Given the description of an element on the screen output the (x, y) to click on. 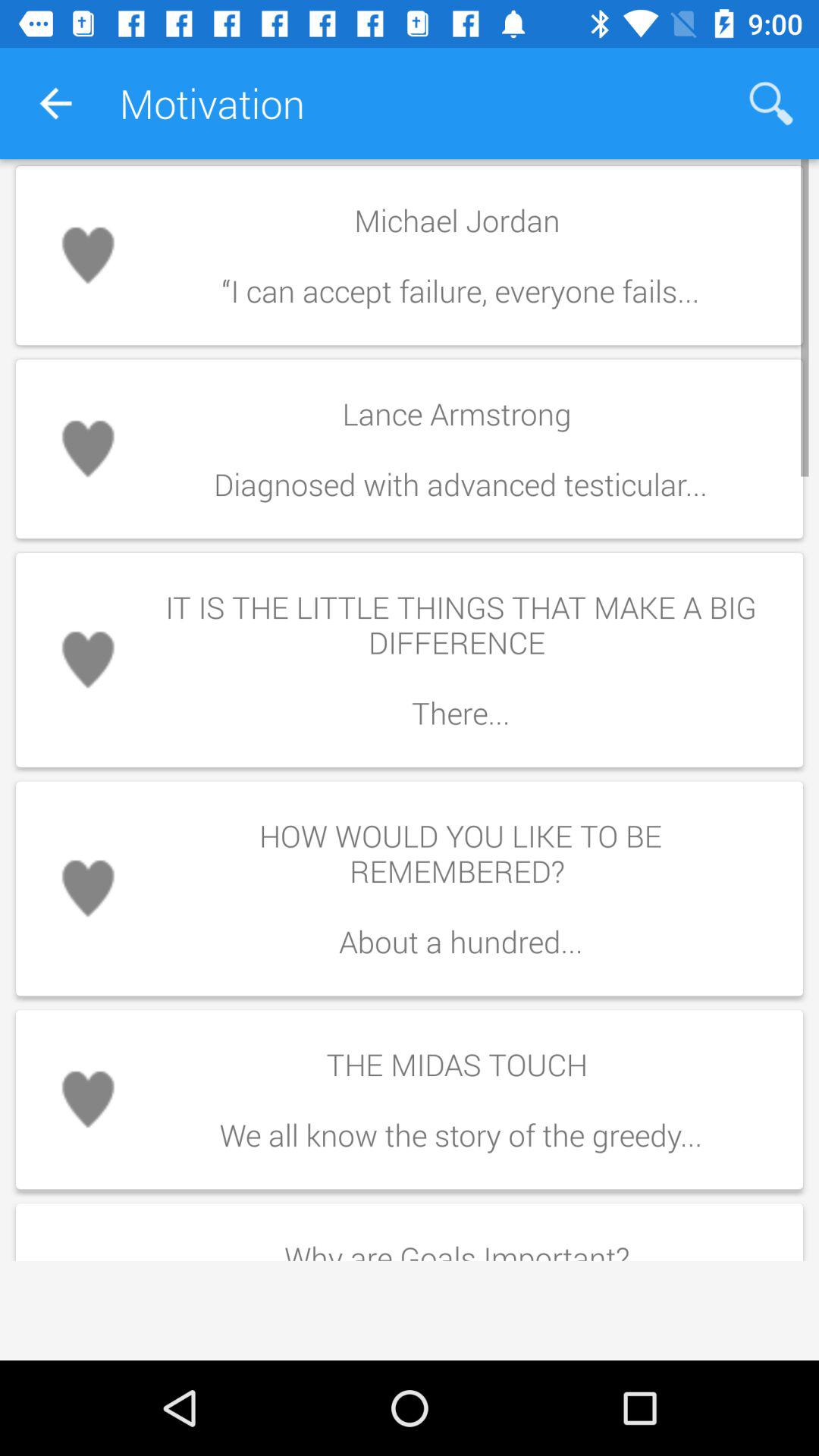
click the item below the lance armstrong  item (460, 659)
